Given the description of an element on the screen output the (x, y) to click on. 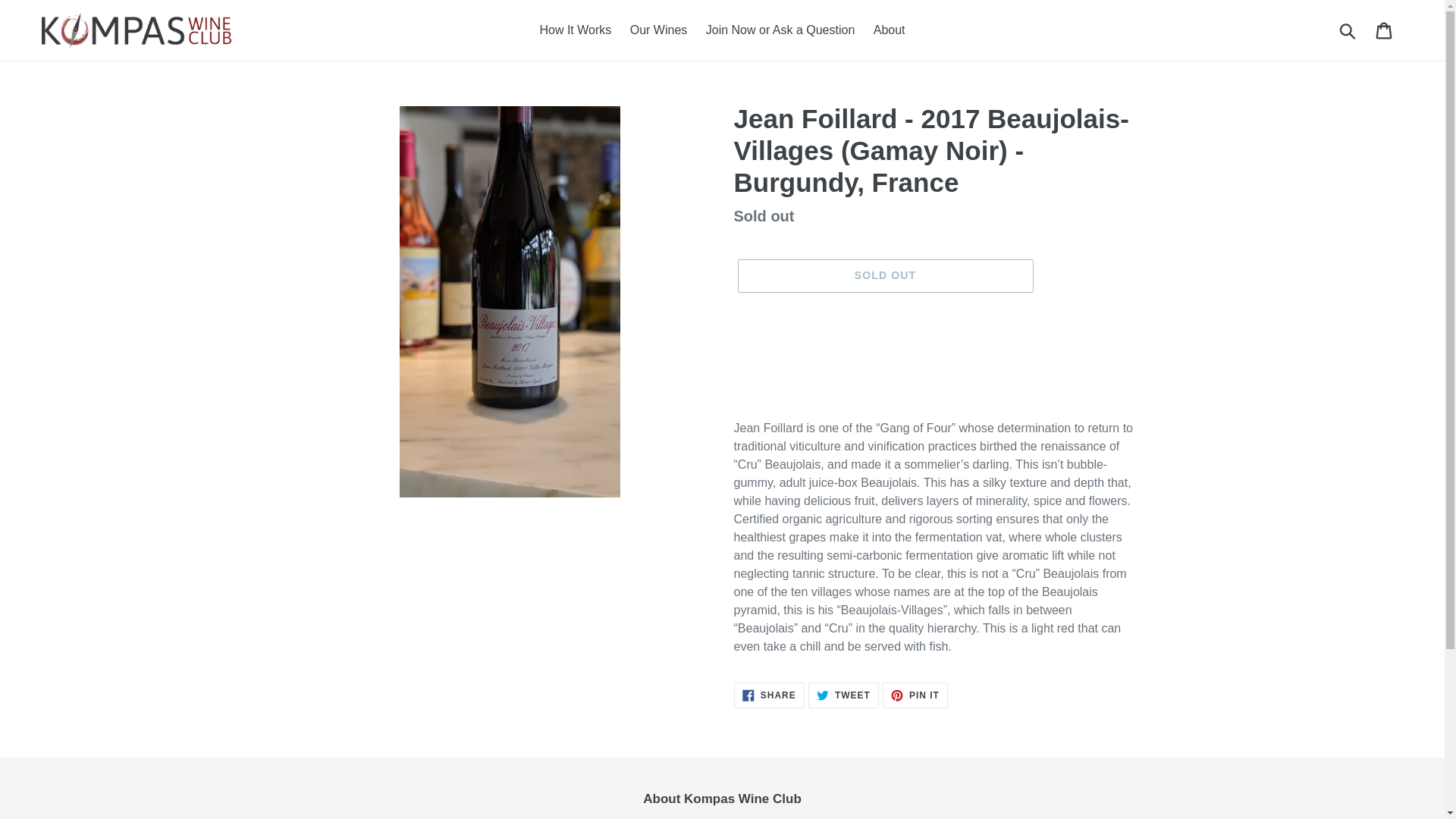
How It Works (769, 695)
Our Wines (843, 695)
Submit (574, 29)
Cart (659, 29)
SOLD OUT (1348, 29)
About (1385, 29)
Join Now or Ask a Question (884, 275)
